Given the description of an element on the screen output the (x, y) to click on. 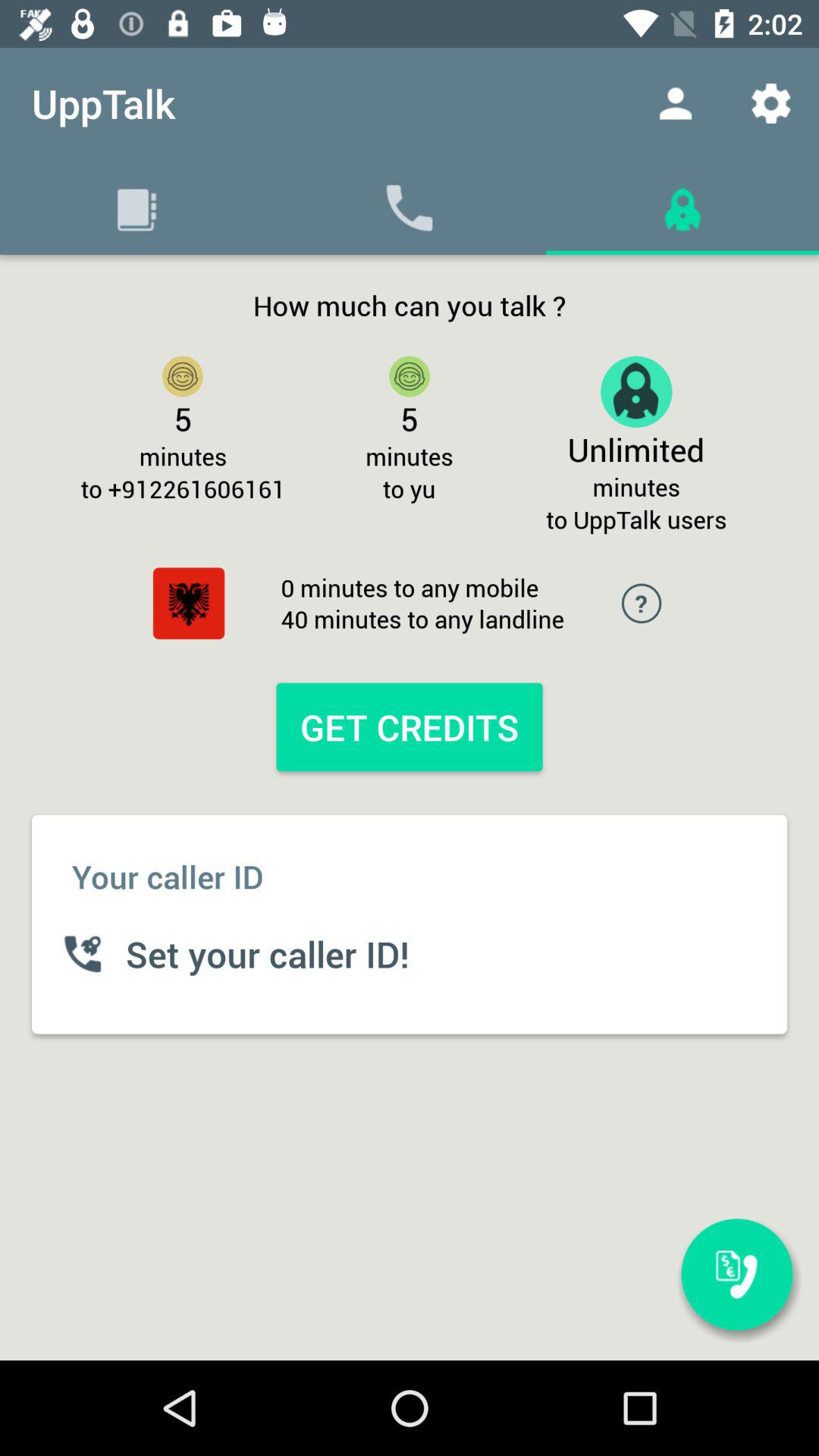
turn on the item below to upptalk users (737, 1274)
